Given the description of an element on the screen output the (x, y) to click on. 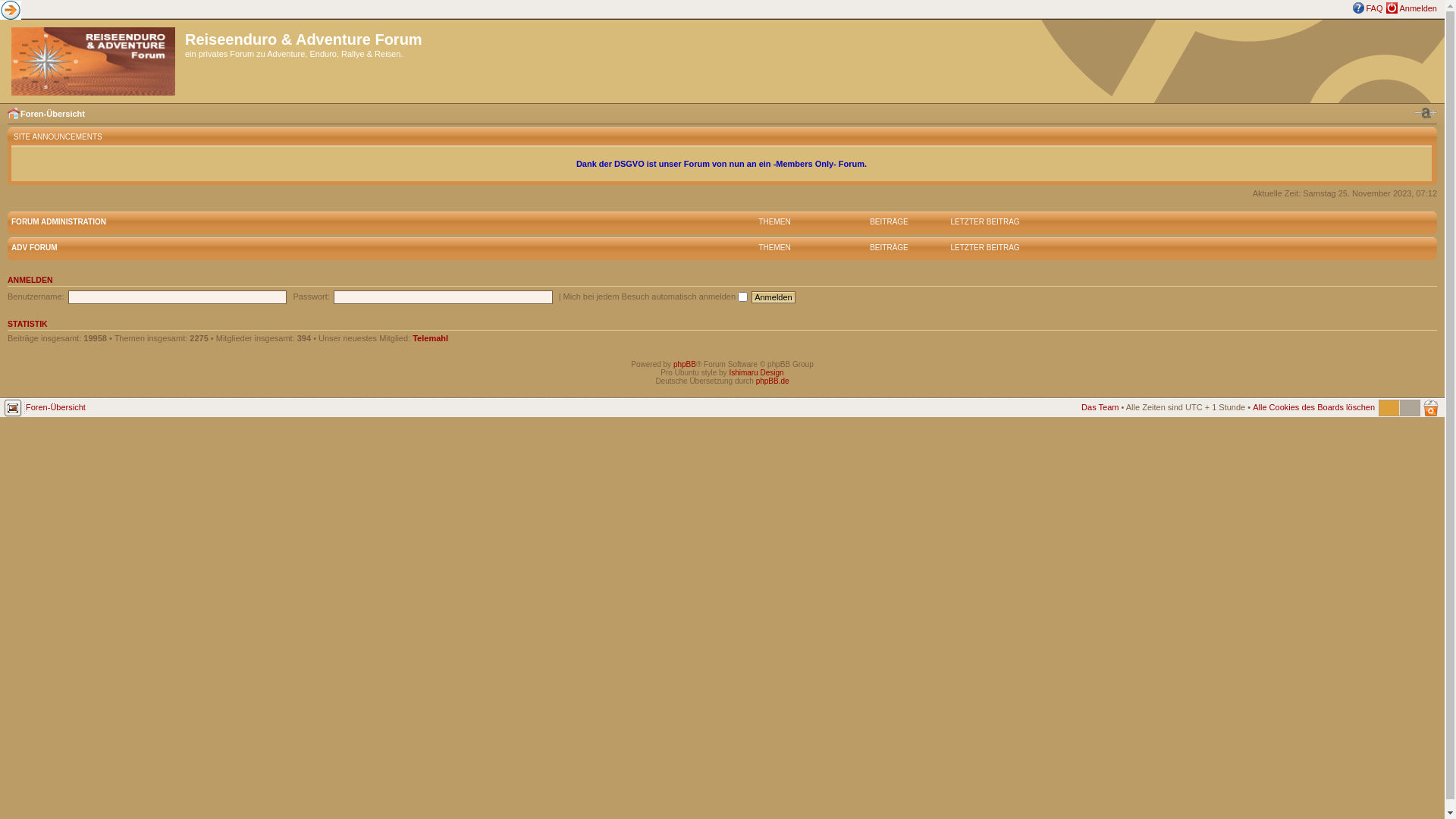
FAQ Element type: text (1373, 7)
phpBB Element type: text (684, 364)
Das Team Element type: text (1099, 406)
ADV FORUM Element type: text (34, 247)
Passwort Element type: hover (442, 297)
Benutzername Element type: hover (177, 297)
phpBB.de Element type: text (772, 380)
Anmelden Element type: text (773, 297)
Ishimaru Design Element type: text (755, 372)
FORUM ADMINISTRATION Element type: text (58, 221)
Anmelden Element type: text (1418, 7)
ANMELDEN Element type: text (30, 279)
TelemahI Element type: text (430, 337)
